Given the description of an element on the screen output the (x, y) to click on. 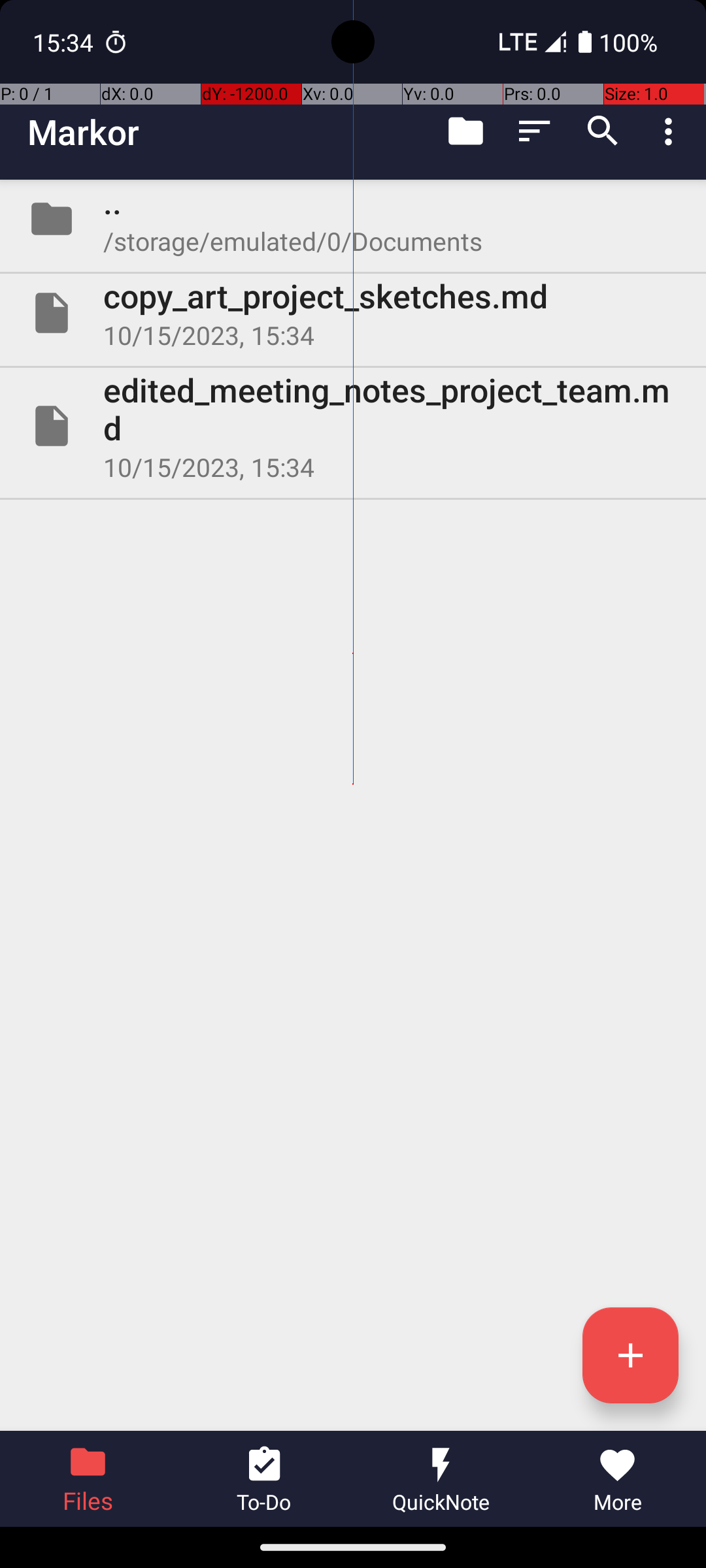
File copy_art_project_sketches.md  Element type: android.widget.LinearLayout (353, 312)
File edited_meeting_notes_project_team.md  Element type: android.widget.LinearLayout (353, 425)
